Given the description of an element on the screen output the (x, y) to click on. 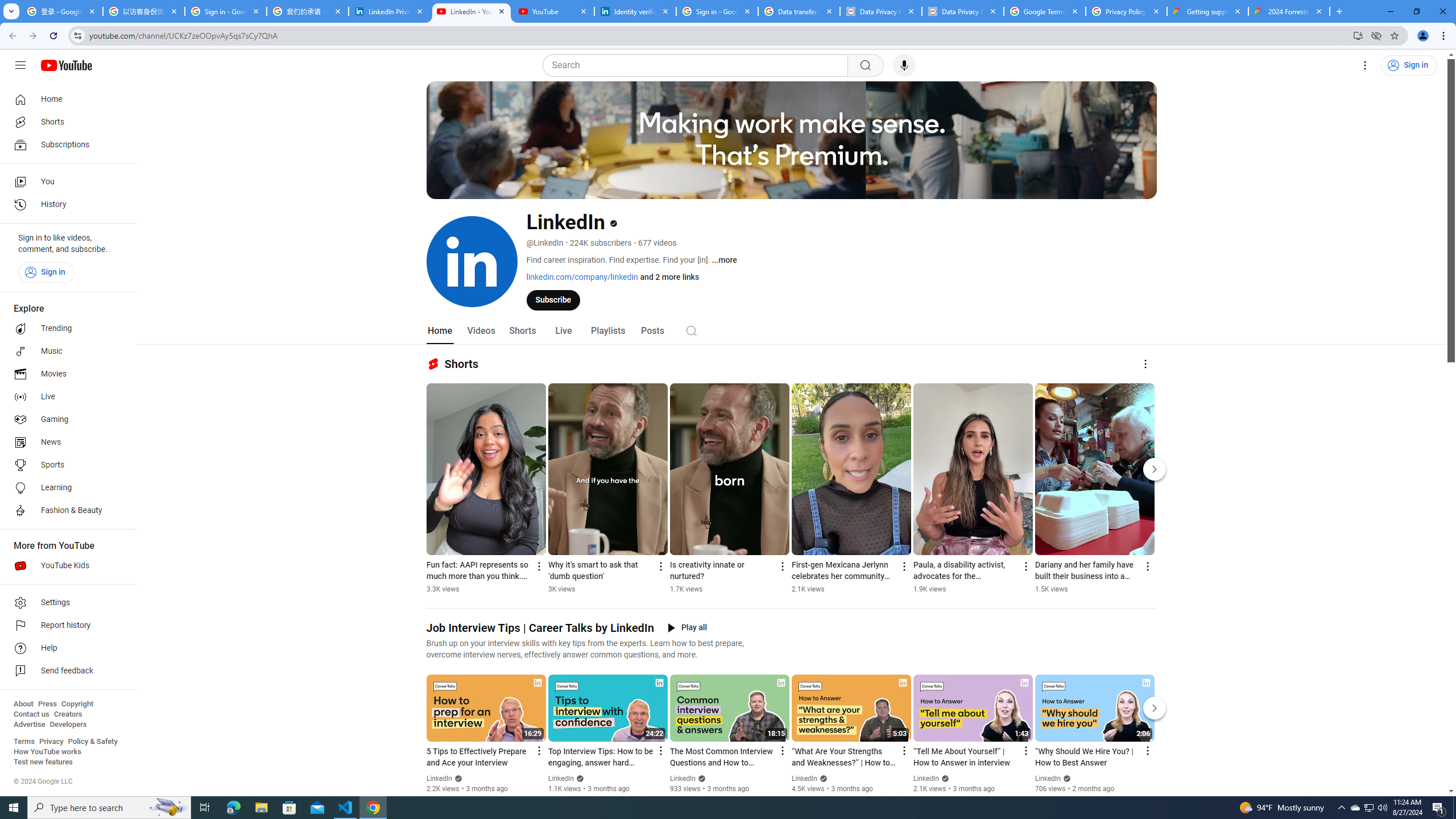
Posts (652, 330)
View site information (77, 35)
Gaming (64, 419)
Search tabs (10, 11)
linkedin.com/company/linkedin (581, 276)
Contact us (31, 714)
Search (691, 330)
Sign in - Google Accounts (716, 11)
Playlists (607, 330)
Address and search bar (717, 35)
